Given the description of an element on the screen output the (x, y) to click on. 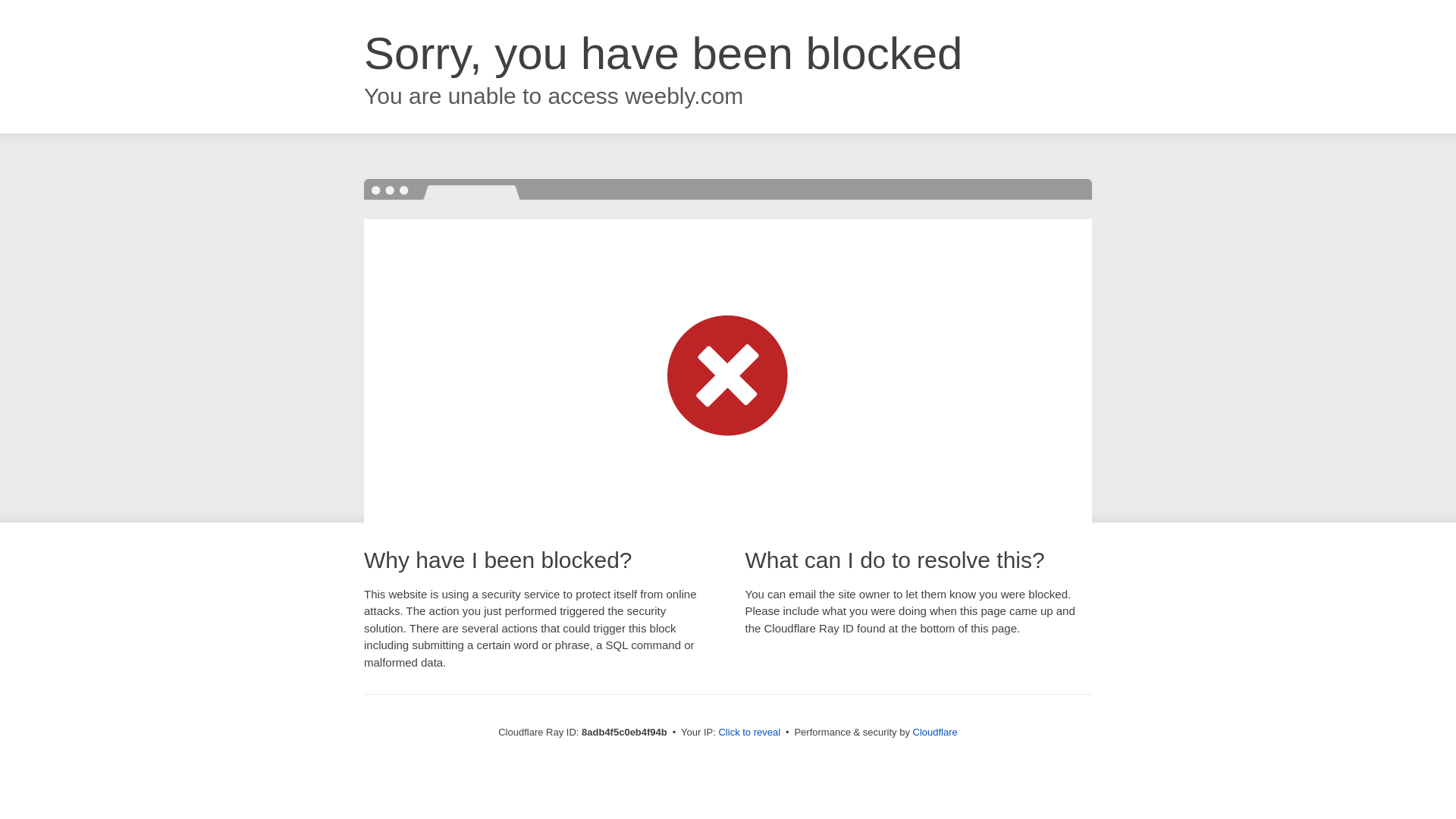
Click to reveal (748, 732)
Cloudflare (935, 731)
